Given the description of an element on the screen output the (x, y) to click on. 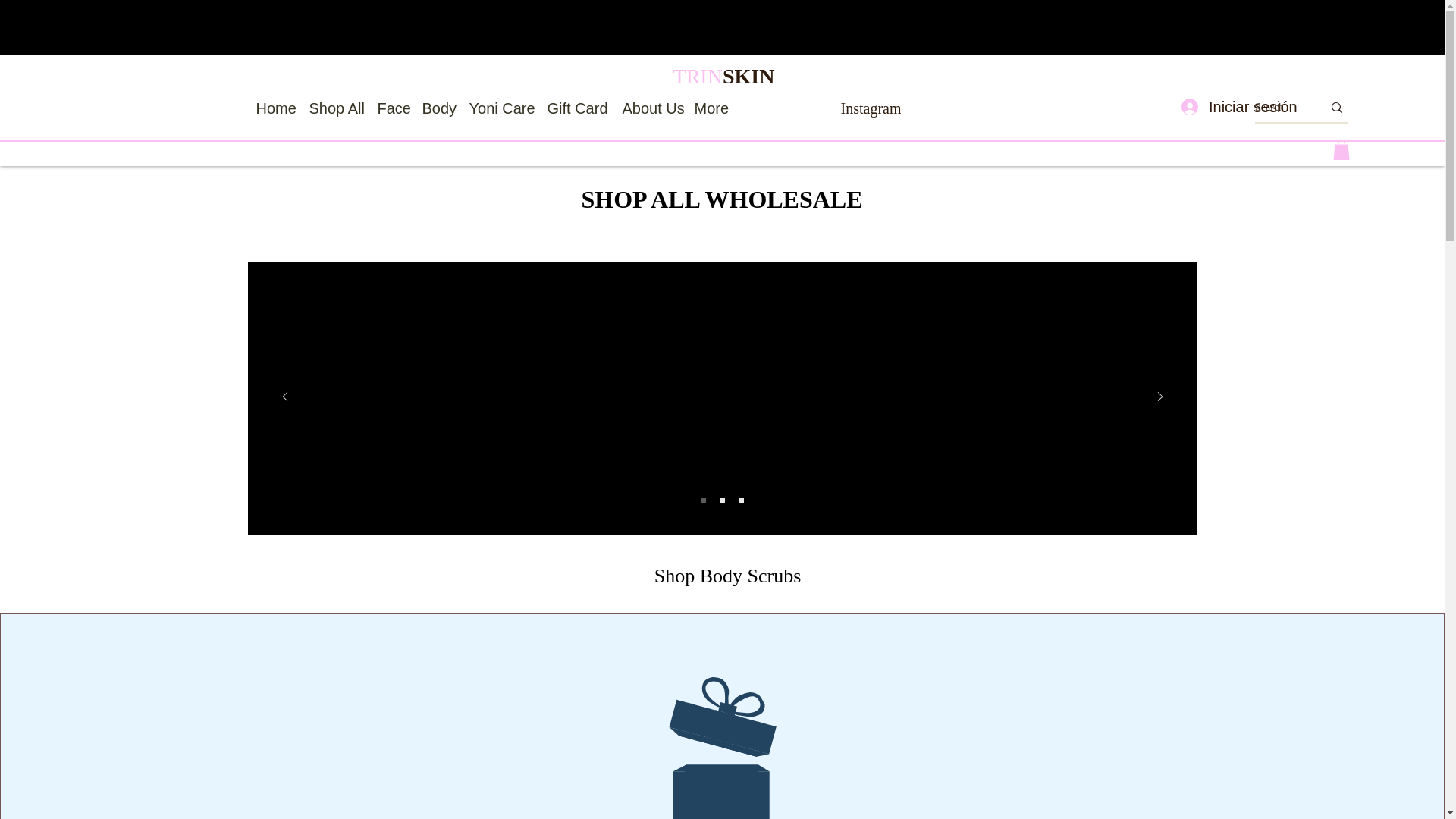
Home (274, 108)
About Us (649, 108)
TRINSKIN (723, 75)
Face (391, 108)
Instagram (871, 108)
Shop All (335, 108)
Yoni Care (499, 108)
Gift Card (577, 108)
Body (437, 108)
